Given the description of an element on the screen output the (x, y) to click on. 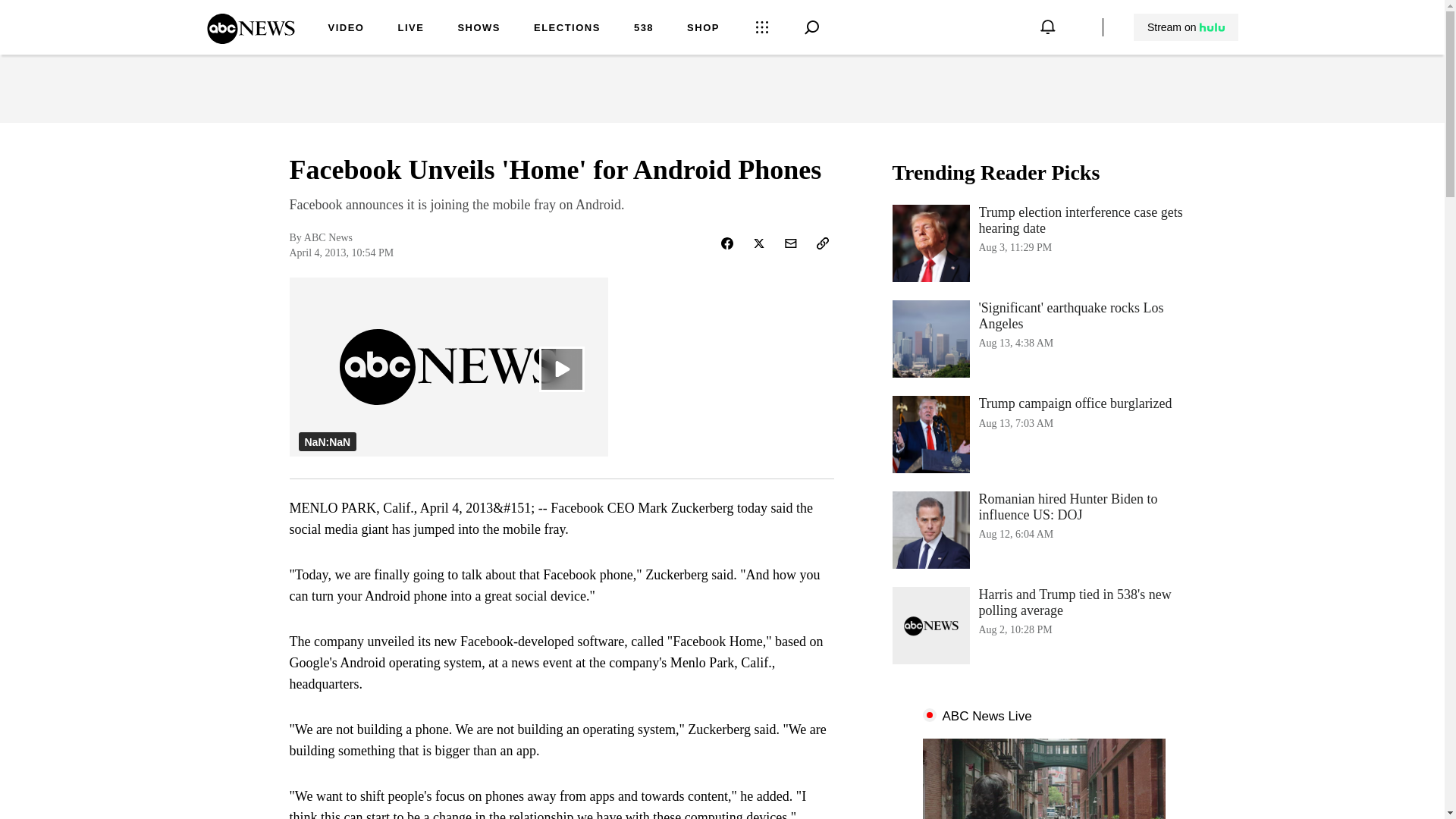
SHOP (703, 28)
ELECTIONS (566, 28)
Stream on (1185, 27)
538 (1043, 338)
VIDEO (643, 28)
ABC News (345, 28)
LIVE (1043, 434)
